Given the description of an element on the screen output the (x, y) to click on. 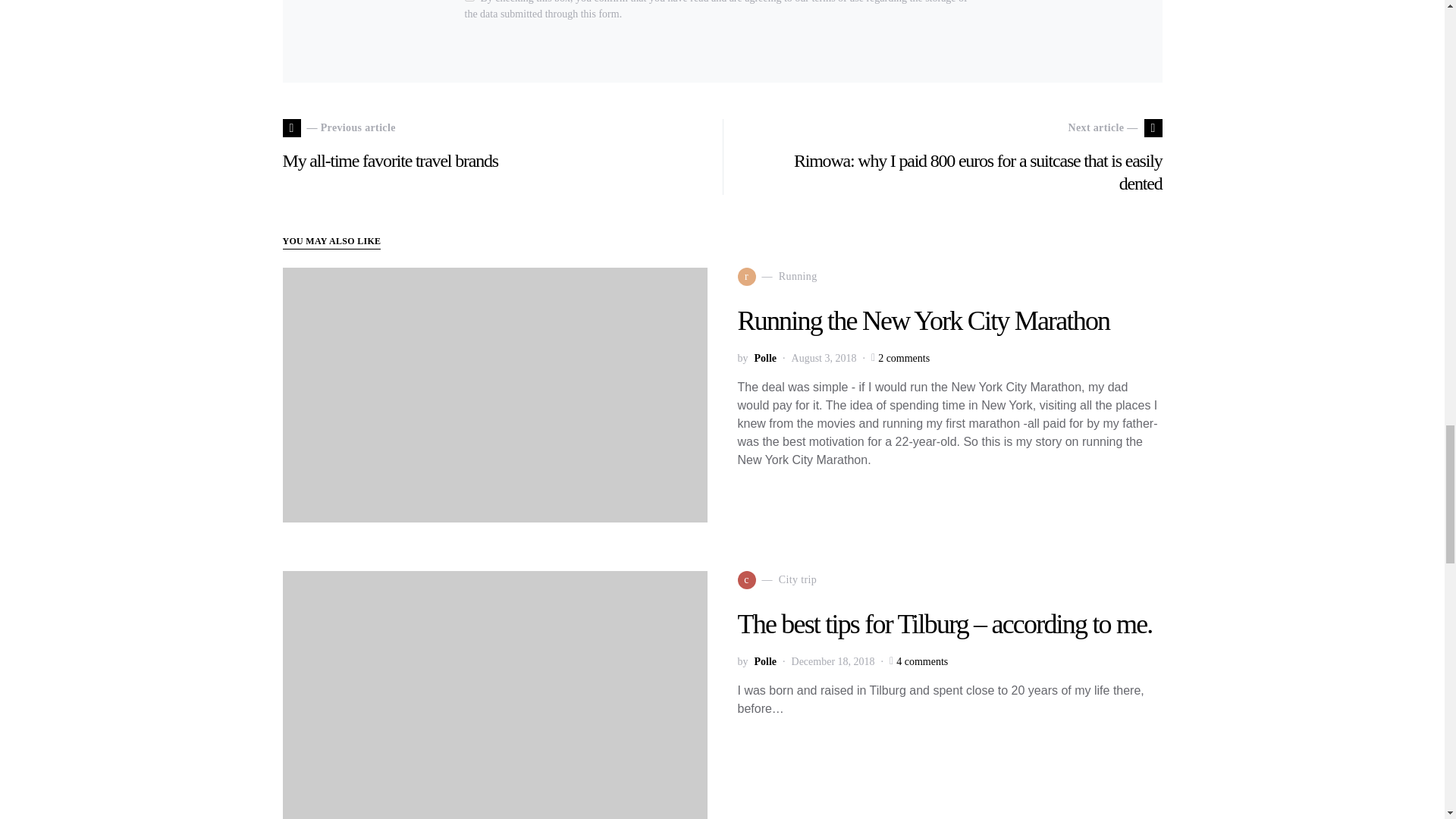
View all posts by Polle (765, 661)
View all posts by Polle (765, 358)
